Given the description of an element on the screen output the (x, y) to click on. 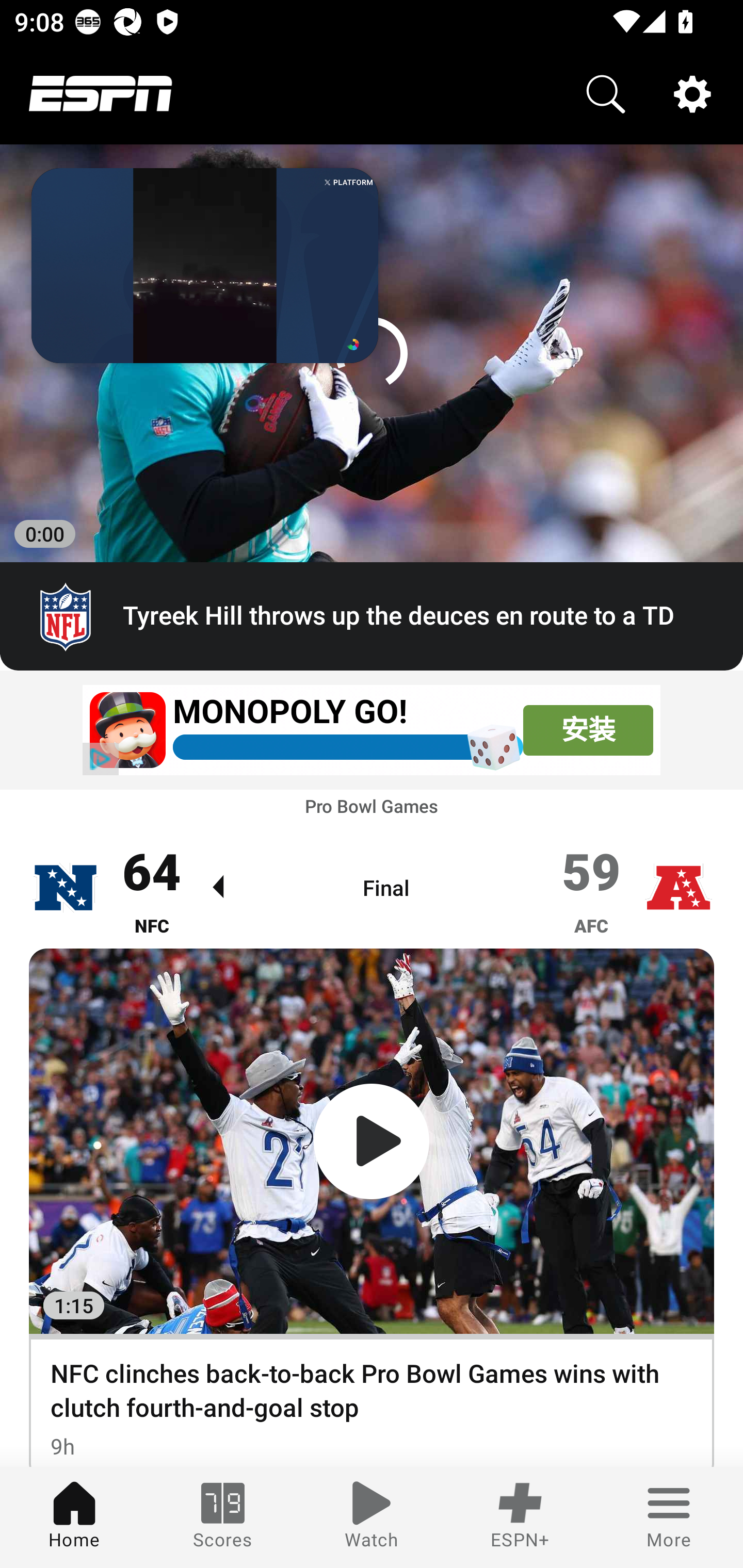
Search (605, 93)
Settings (692, 93)
Tyreek Hill throws up the deuces en route to a TD (371, 616)
Scores (222, 1517)
Watch (371, 1517)
ESPN+ (519, 1517)
More (668, 1517)
